Given the description of an element on the screen output the (x, y) to click on. 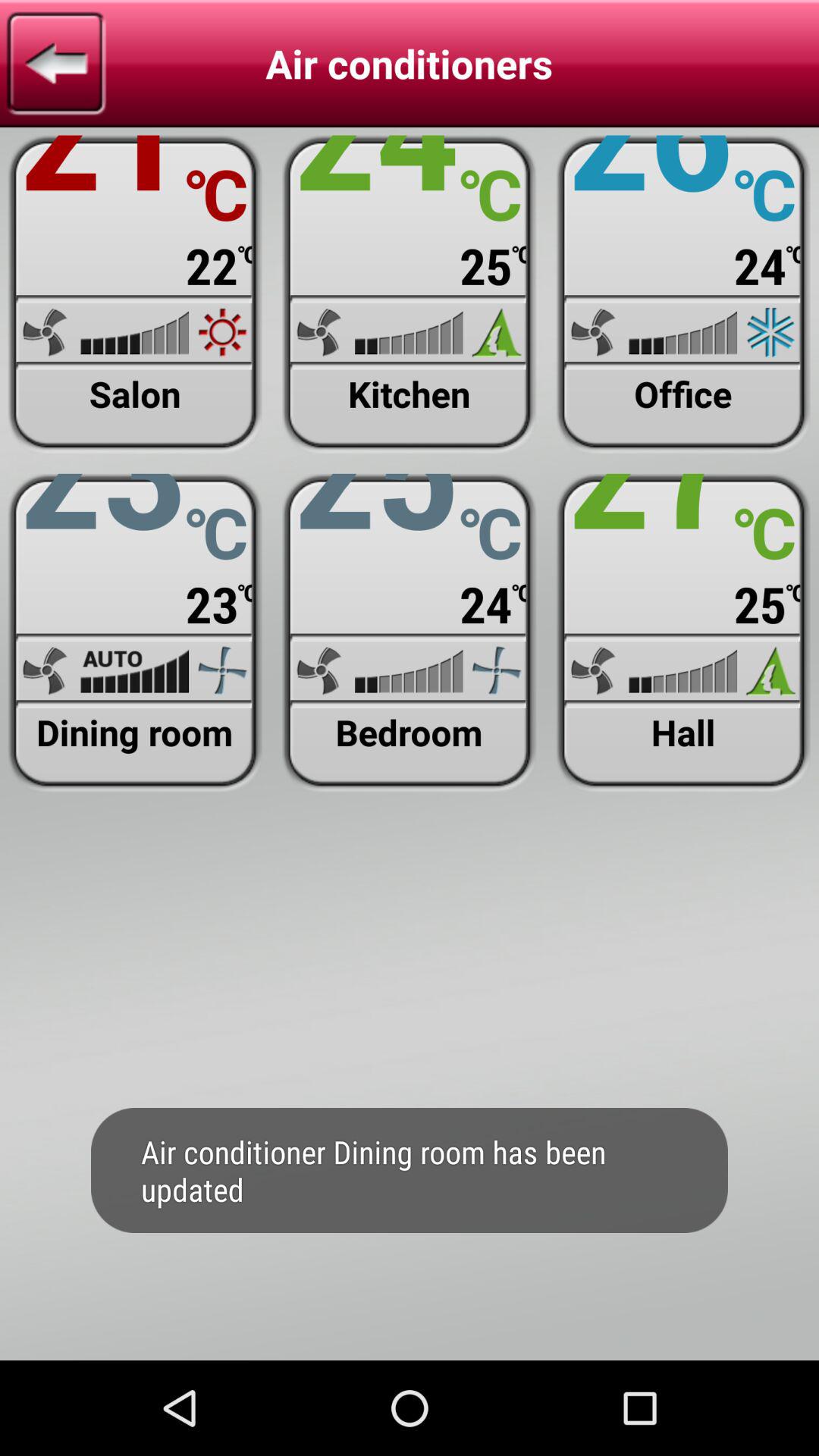
air condtioning adjustment for hallway (683, 632)
